Given the description of an element on the screen output the (x, y) to click on. 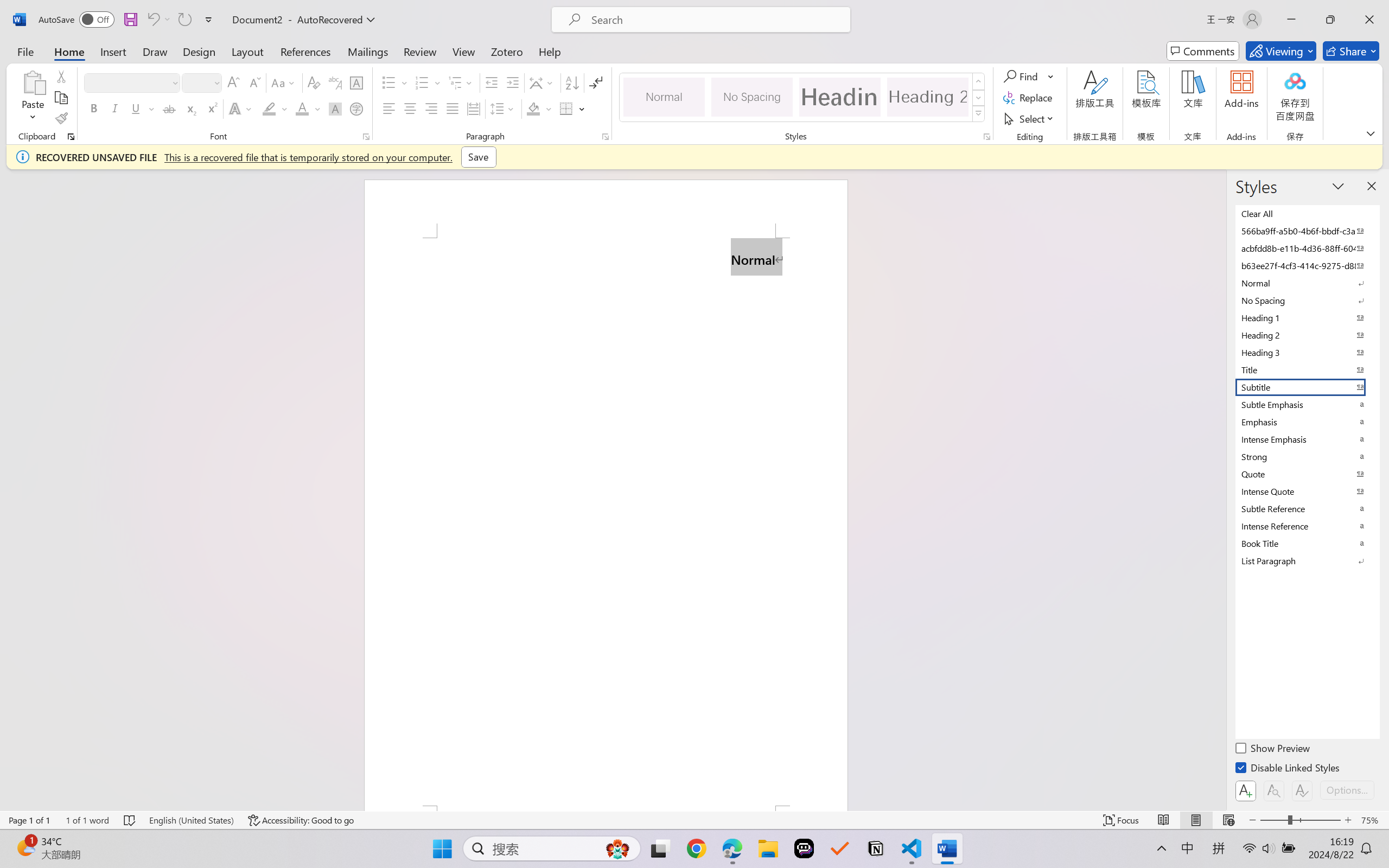
Options... (1346, 789)
Page Number Page 1 of 1 (29, 819)
Strikethrough (169, 108)
Increase Indent (512, 82)
Can't Repeat (184, 19)
Grow Font (233, 82)
